Given the description of an element on the screen output the (x, y) to click on. 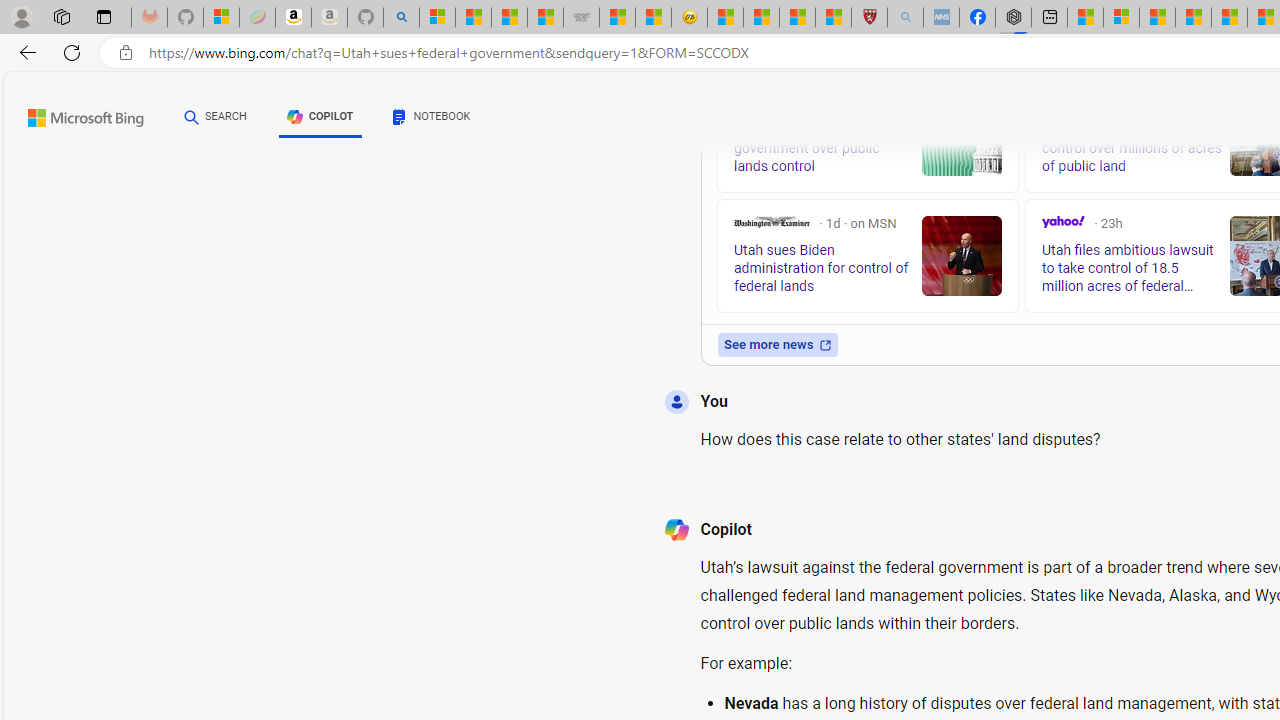
Boise State Public Radio (1049, 103)
Washington Examiner on MSN.com (771, 222)
Utah sues Biden administration for control of federal lands (961, 255)
